Given the description of an element on the screen output the (x, y) to click on. 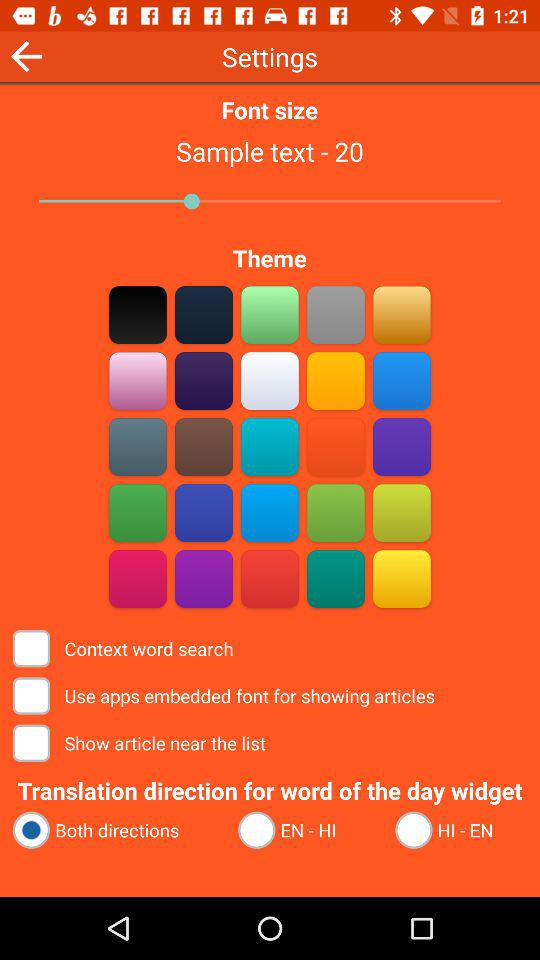
font color (137, 314)
